Given the description of an element on the screen output the (x, y) to click on. 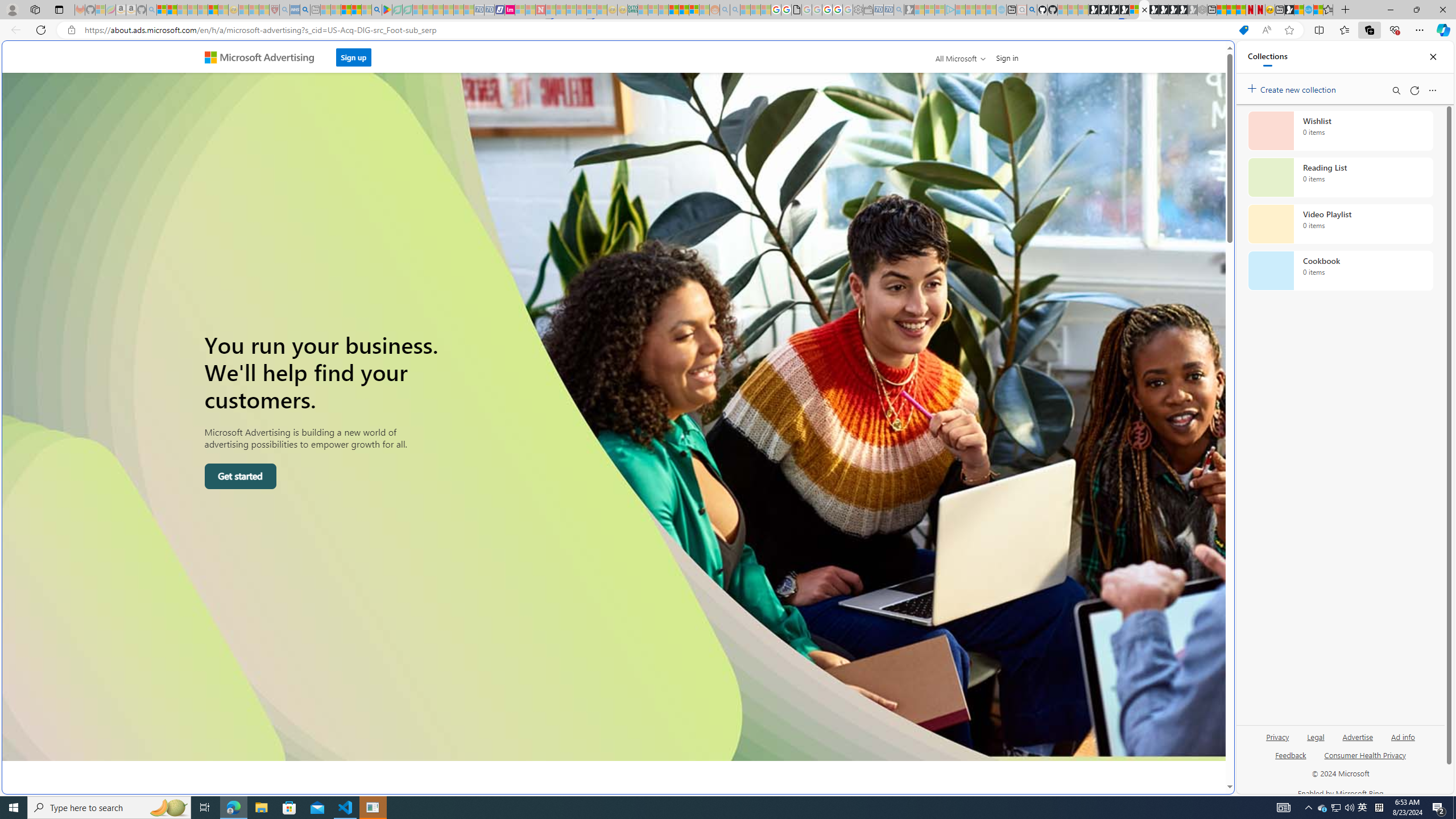
Microsoft Advertising (263, 56)
Sign up (352, 57)
Pets - MSN (356, 9)
